Given the description of an element on the screen output the (x, y) to click on. 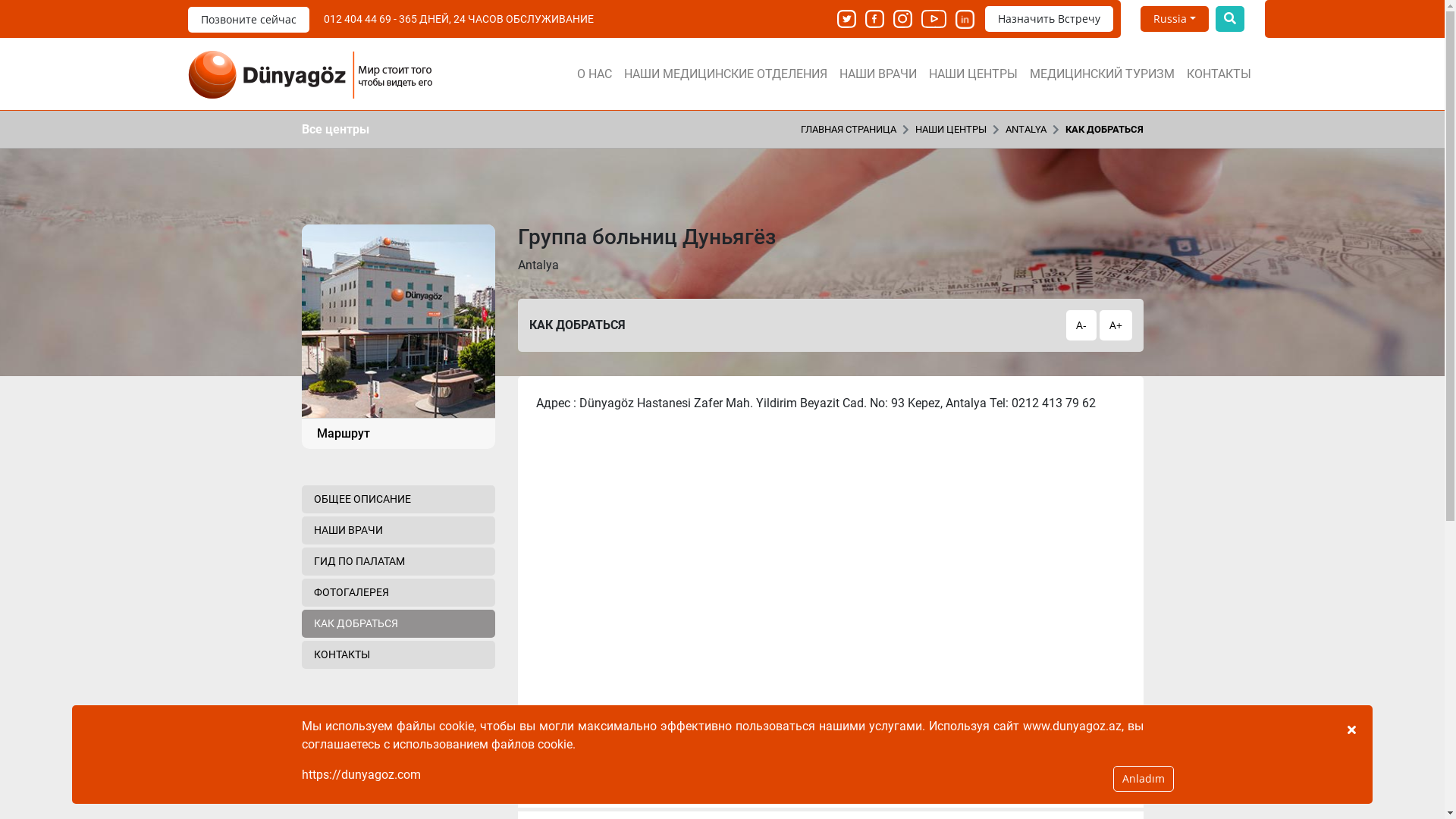
A- Element type: text (1081, 325)
ANTALYA Element type: text (1025, 129)
https://dunyagoz.com Element type: text (360, 774)
A+ Element type: text (1115, 325)
Russia Element type: text (1174, 18)
